Given the description of an element on the screen output the (x, y) to click on. 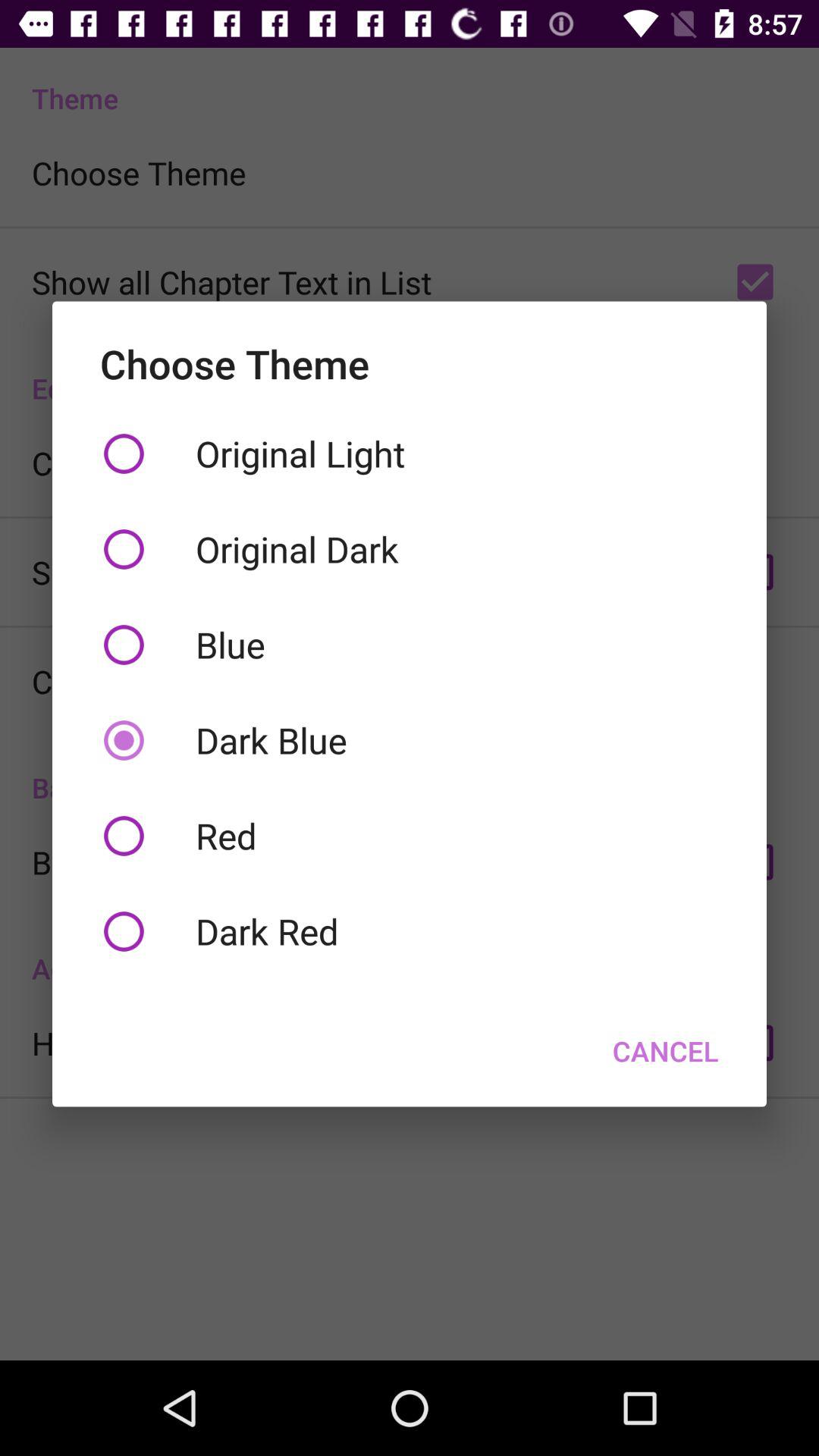
flip to the cancel icon (665, 1050)
